Given the description of an element on the screen output the (x, y) to click on. 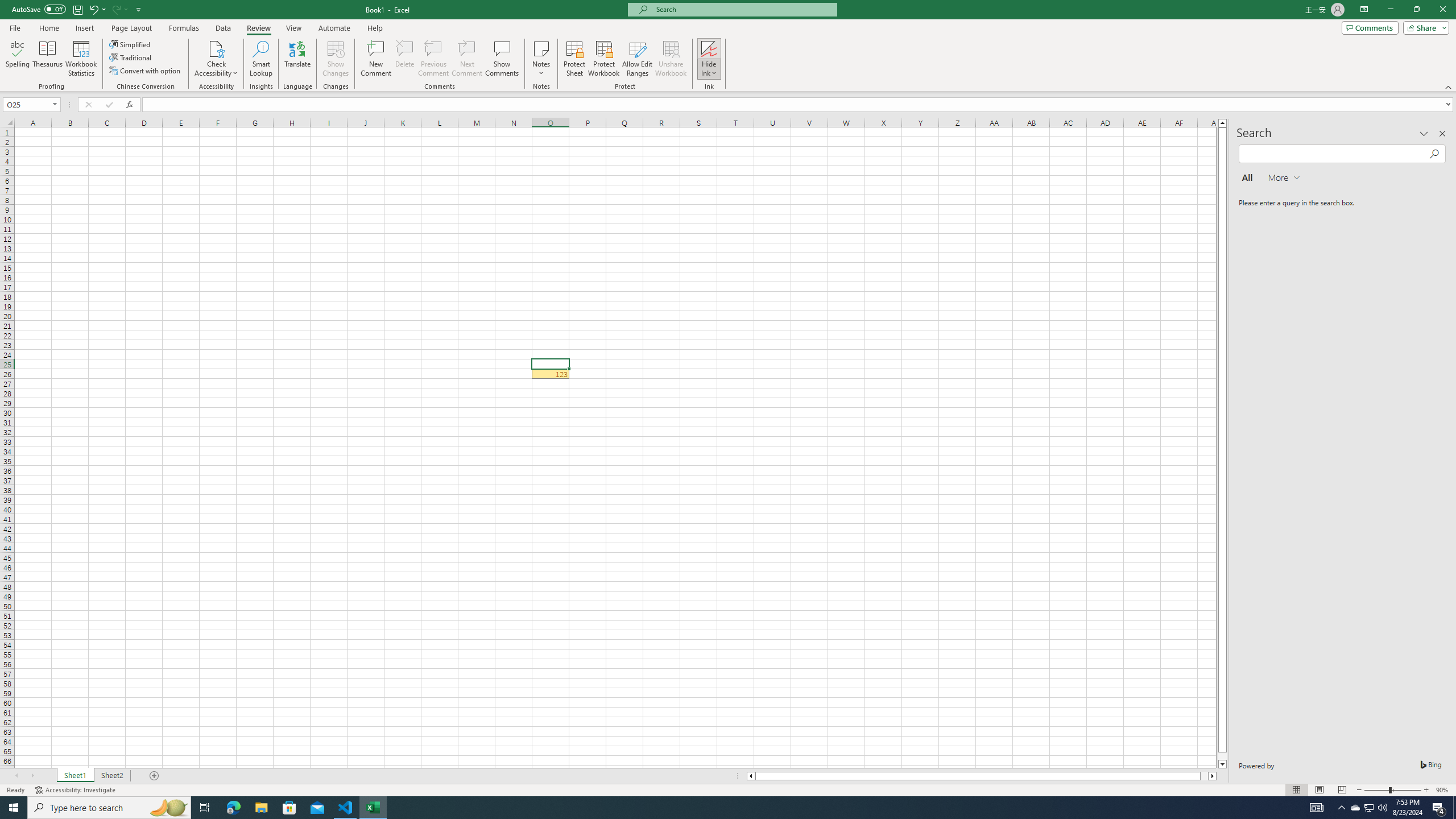
Close pane (1441, 133)
New Comment (376, 58)
Undo (96, 9)
Convert with option (145, 69)
Save (77, 9)
Line down (1222, 764)
Hide Ink (708, 48)
System (6, 6)
Protect Sheet... (574, 58)
Home (48, 28)
Microsoft search (742, 9)
Check Accessibility (215, 58)
Task Pane Options (1423, 133)
Minimize (1390, 9)
